Given the description of an element on the screen output the (x, y) to click on. 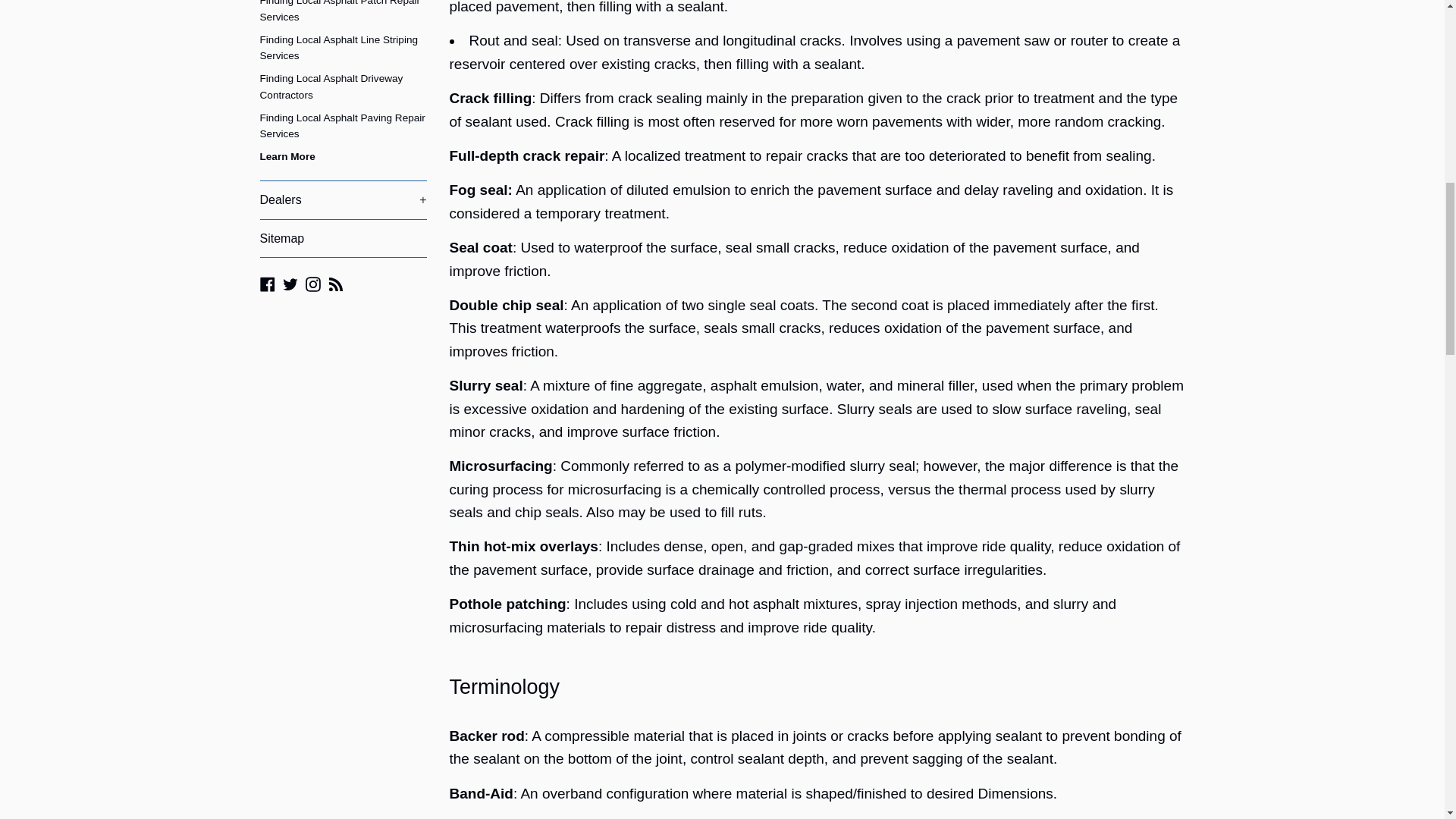
Learn More (342, 156)
Pavemade.com on Facebook (267, 283)
Finding Local Asphalt Line Striping Services (342, 47)
Pavemade.com on Twitter (290, 283)
Finding Local Asphalt Paving Repair Services (342, 126)
Pavemade.com on Instagram (312, 283)
Finding Local Asphalt Patch Repair Services (342, 14)
Finding Local Asphalt Driveway Contractors (342, 87)
